Given the description of an element on the screen output the (x, y) to click on. 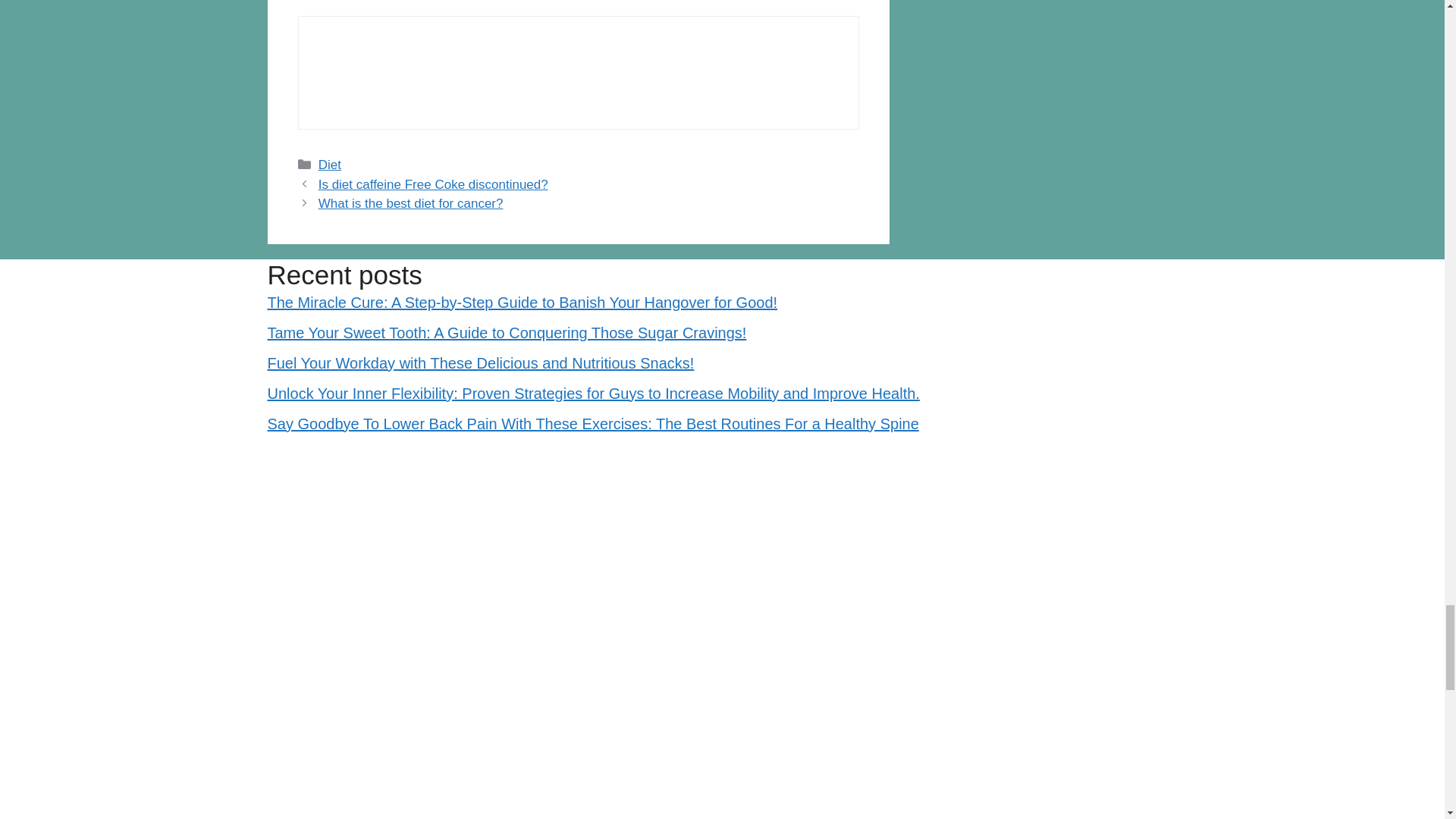
What is the best diet for cancer? (410, 203)
Diet (329, 164)
Is diet caffeine Free Coke discontinued? (433, 184)
